Given the description of an element on the screen output the (x, y) to click on. 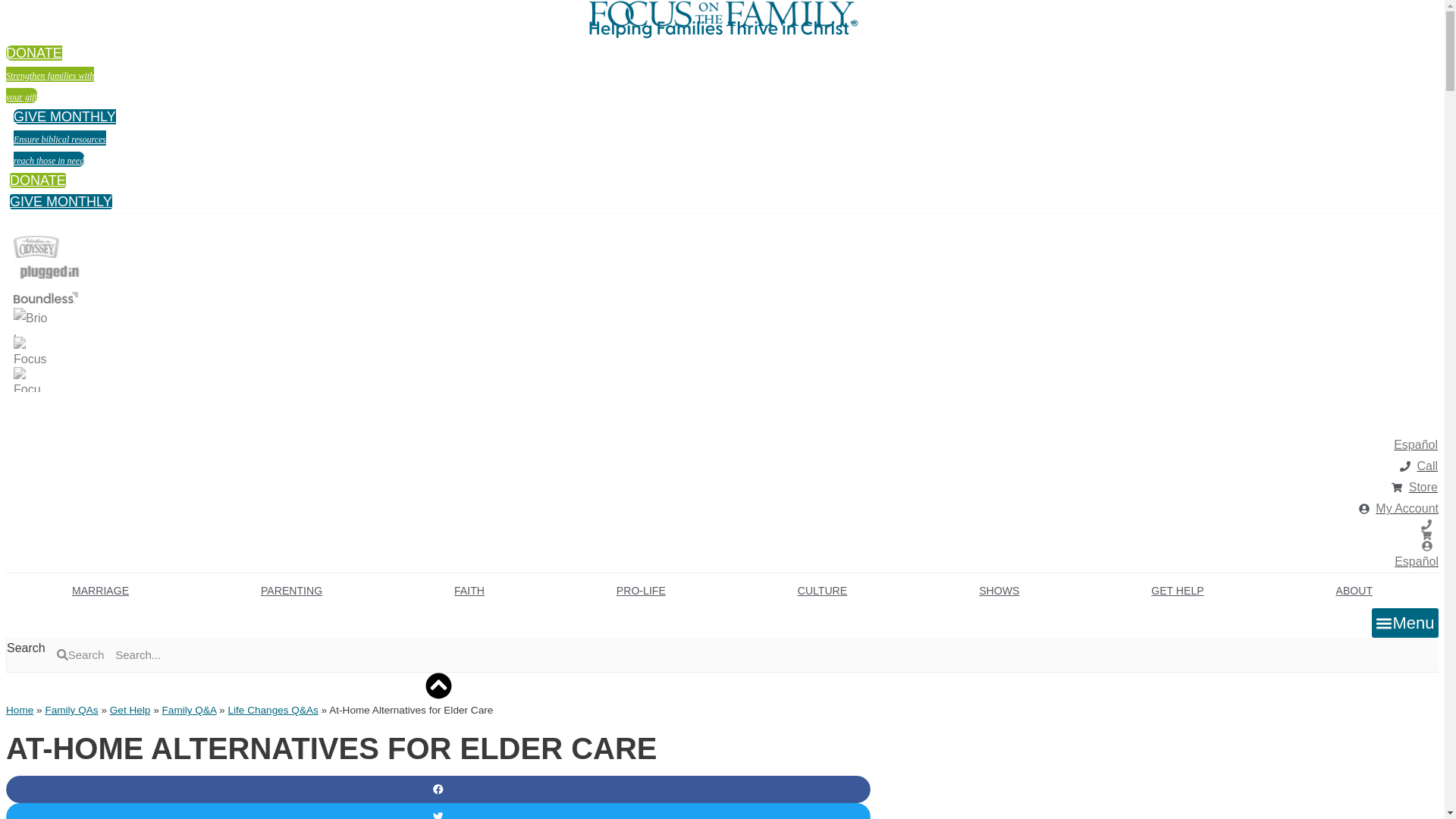
Brio (31, 321)
Plugged In (49, 271)
PARENTING (291, 590)
Plugged In (23, 403)
Focus on the Family Clubhouse Jr. (26, 379)
Focus on the Family (64, 137)
GIVE MONTHLY (722, 13)
DONATE (61, 201)
